Given the description of an element on the screen output the (x, y) to click on. 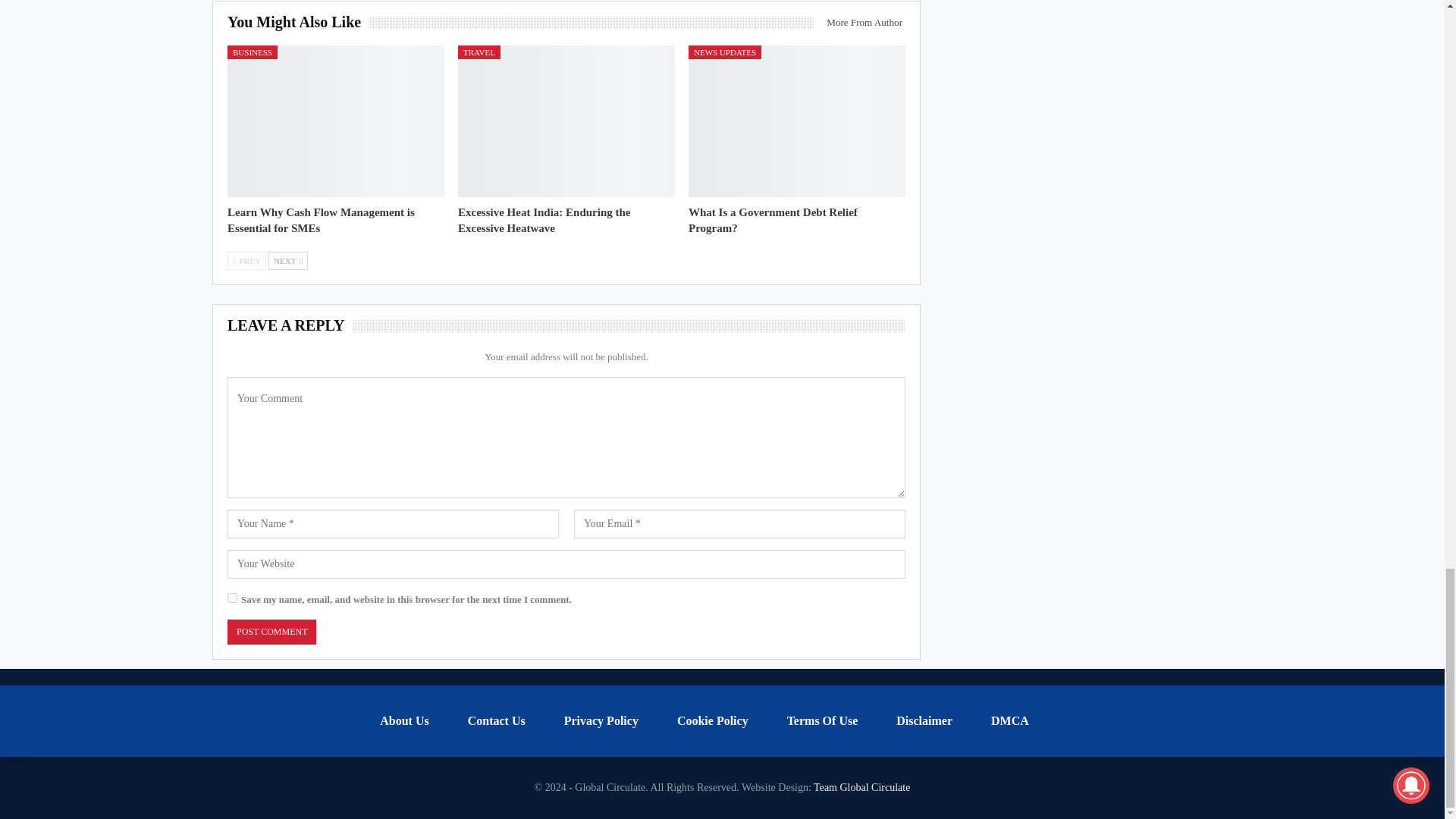
Excessive Heat India: Enduring the Excessive Heatwave (544, 220)
What Is a Government Debt Relief Program? (796, 121)
Learn Why Cash Flow Management is Essential for SMEs (335, 121)
Post Comment (271, 631)
yes (232, 597)
Excessive Heat India: Enduring the Excessive Heatwave (566, 121)
Learn Why Cash Flow Management is Essential for SMEs (320, 220)
What Is a Government Debt Relief Program? (772, 220)
